Given the description of an element on the screen output the (x, y) to click on. 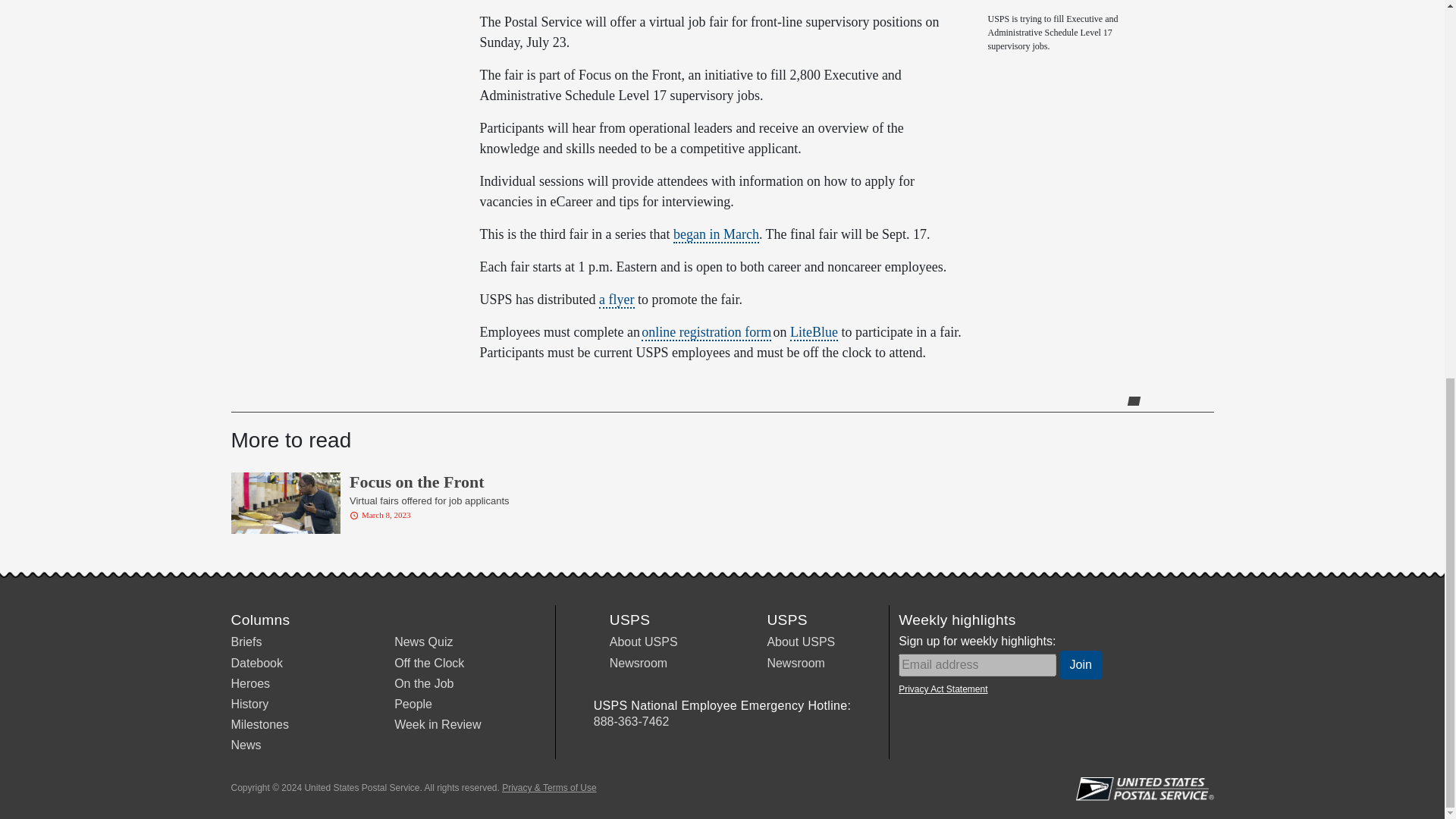
online registration form (706, 332)
About USPS (644, 641)
Milestones (259, 724)
On the Job (423, 683)
Week in Review (437, 724)
Off the Clock (429, 662)
a flyer (615, 299)
News (245, 744)
began in March (715, 234)
LiteBlue (814, 332)
Join (1080, 664)
Briefs (246, 641)
History (248, 703)
Datebook (256, 662)
